Given the description of an element on the screen output the (x, y) to click on. 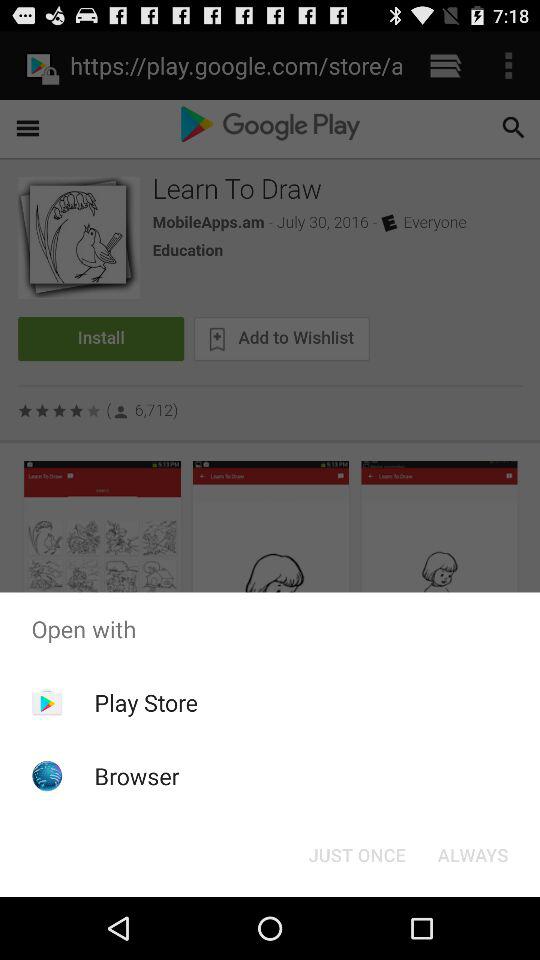
select icon at the bottom right corner (472, 854)
